Given the description of an element on the screen output the (x, y) to click on. 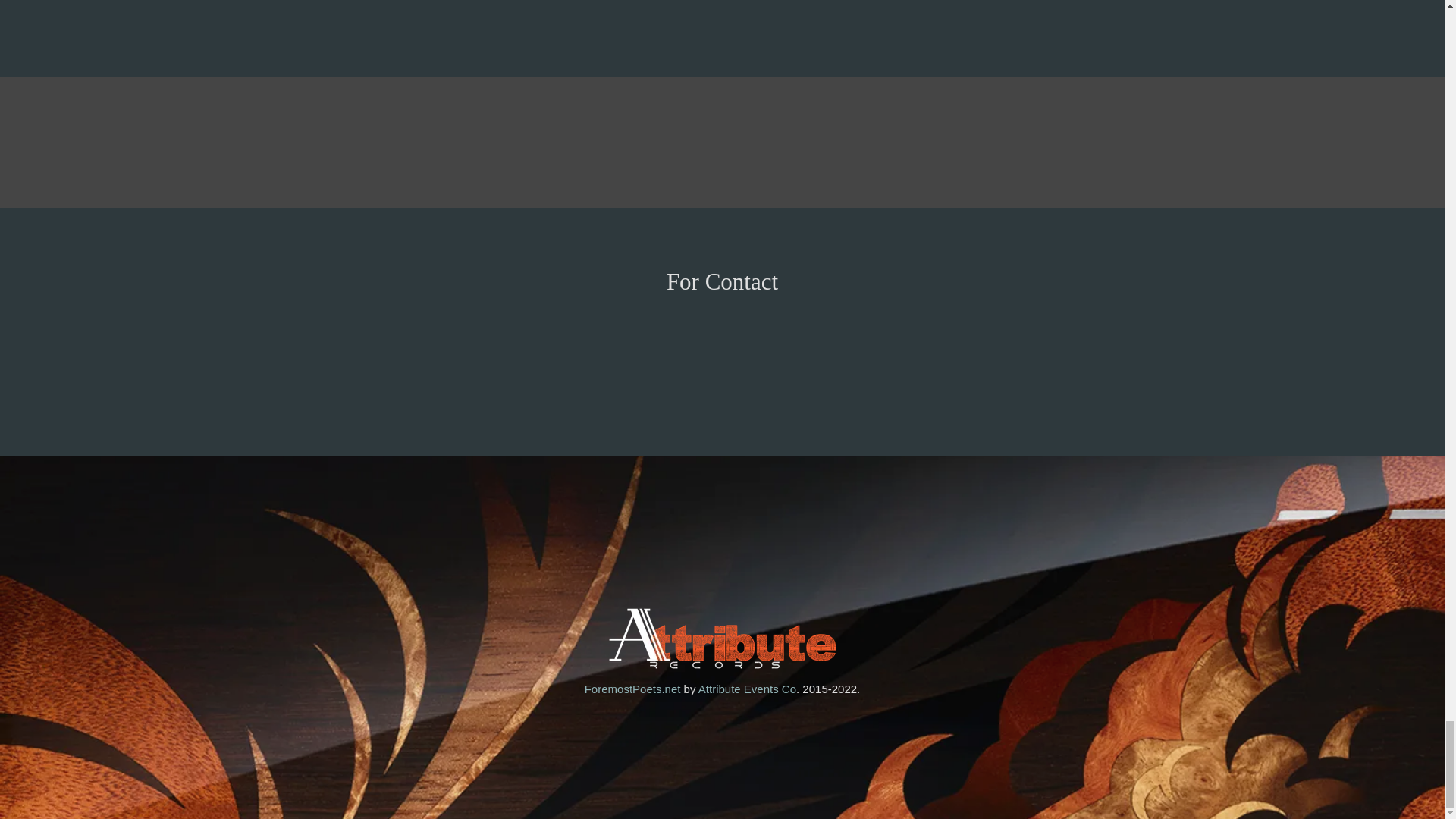
Attribute Events Co (747, 688)
ForemostPoets.net (633, 688)
